Given the description of an element on the screen output the (x, y) to click on. 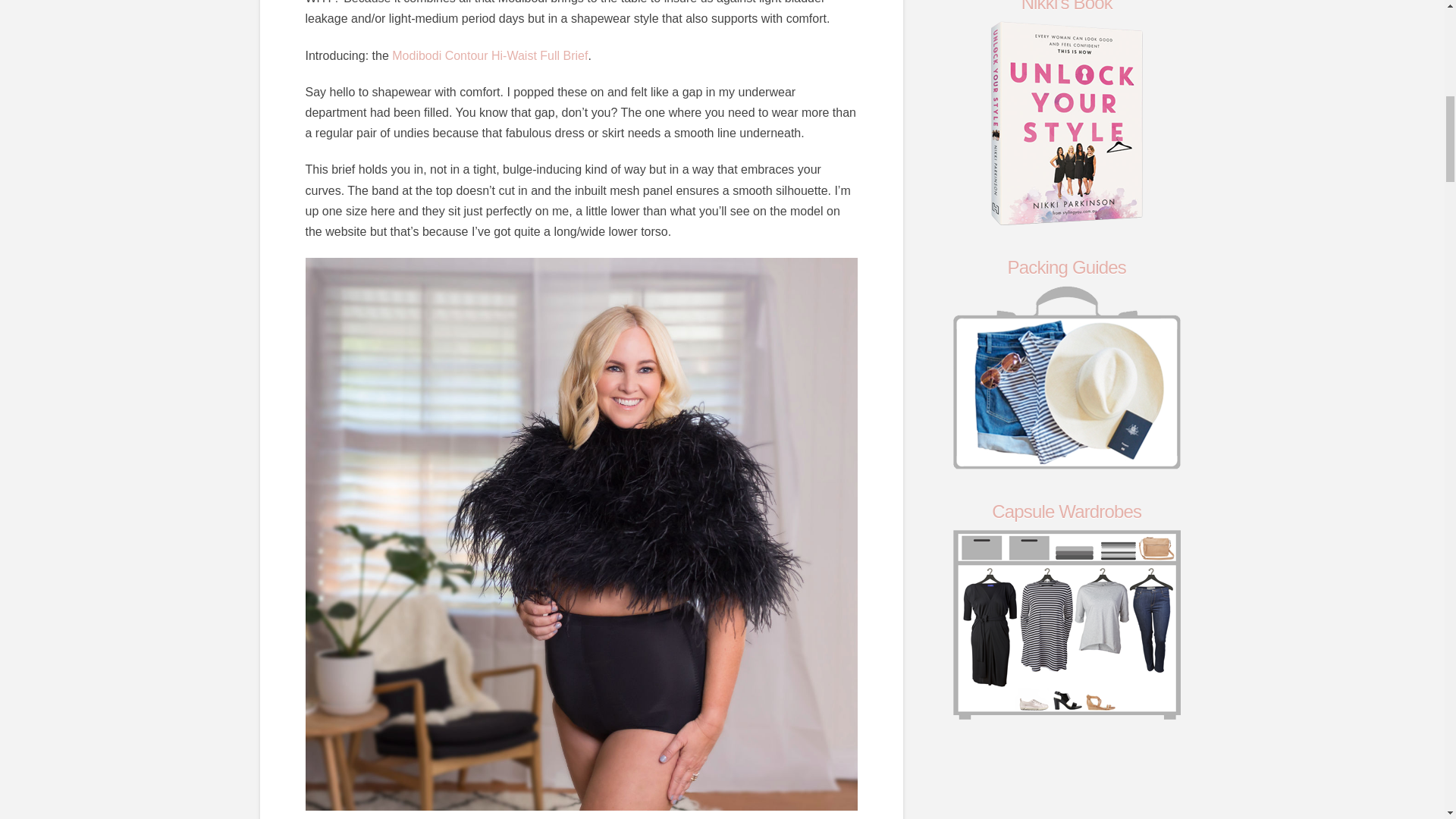
Modibodi Contour Hi-Waist Full Brief (489, 55)
